Given the description of an element on the screen output the (x, y) to click on. 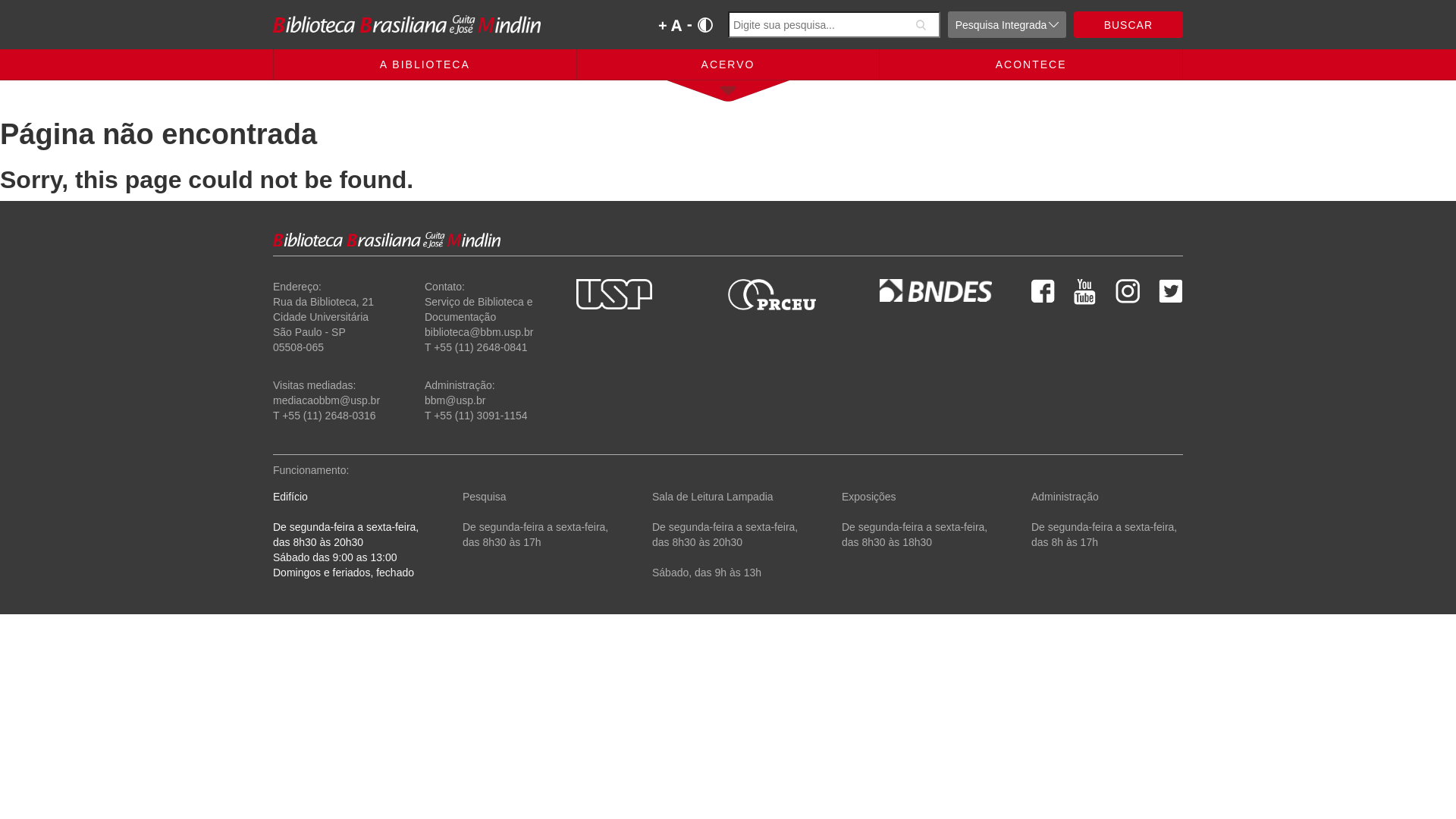
BUSCAR Element type: text (1128, 24)
